Given the description of an element on the screen output the (x, y) to click on. 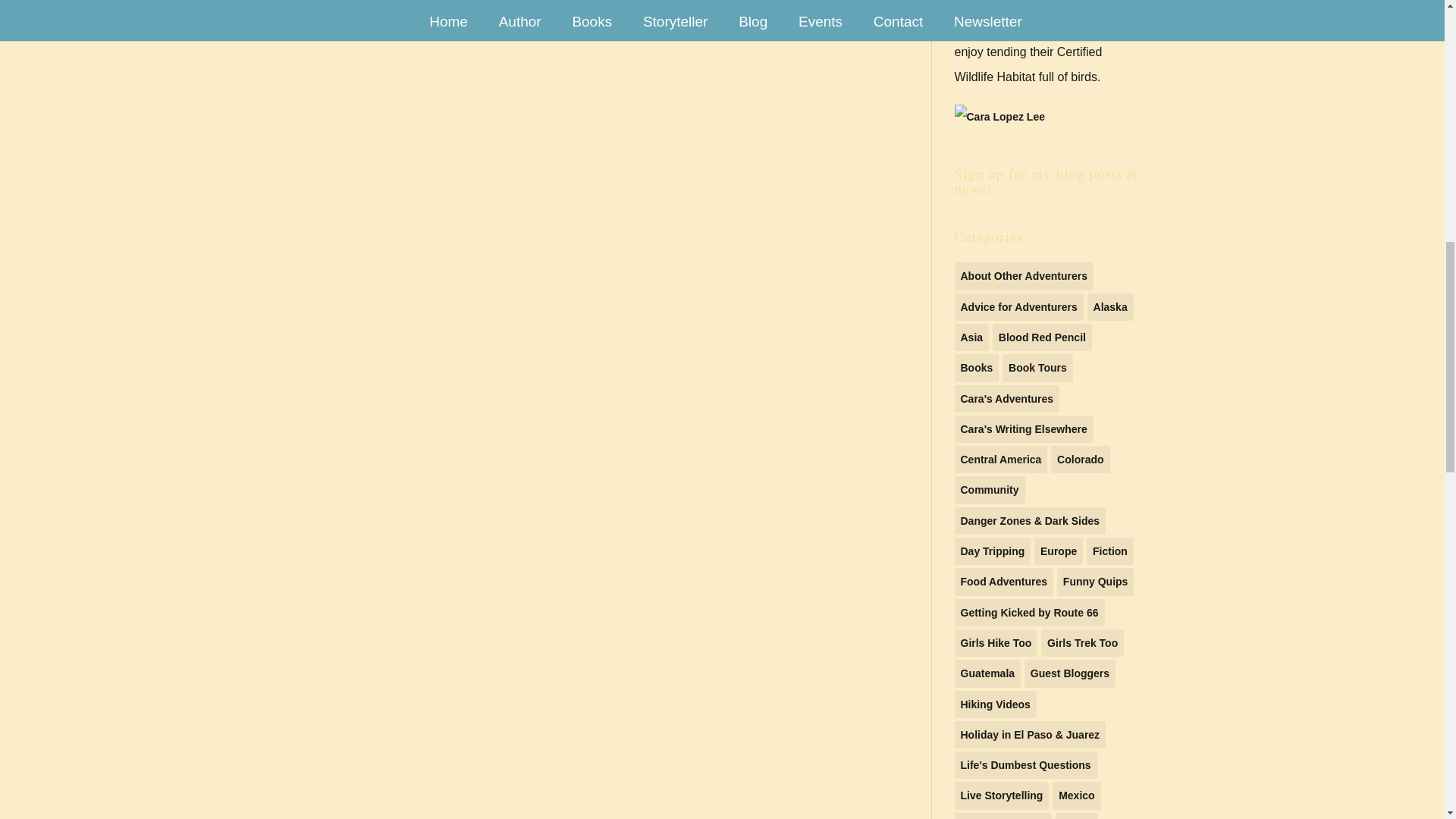
Europe (1058, 551)
Blood Red Pencil (1042, 337)
Alaska (1110, 307)
Day Tripping (991, 551)
Asia (970, 337)
Cara's Adventures (1006, 398)
Cara's Writing Elsewhere (1023, 429)
Central America (999, 459)
Books (975, 367)
Book Tours (1038, 367)
Colorado (1080, 459)
About Other Adventurers (1023, 275)
Community (989, 489)
Advice for Adventurers (1018, 307)
